Given the description of an element on the screen output the (x, y) to click on. 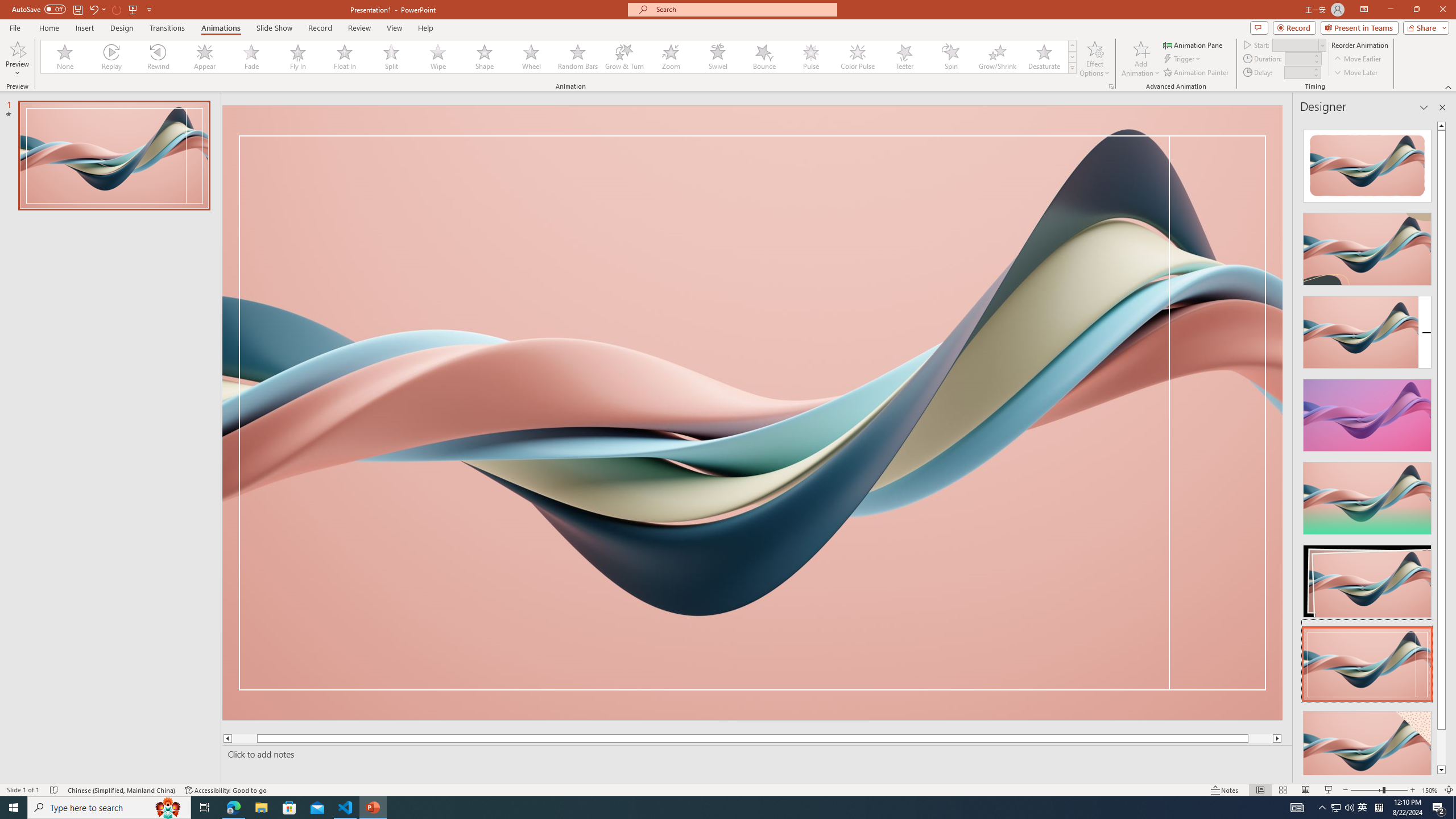
Pulse (810, 56)
